Given the description of an element on the screen output the (x, y) to click on. 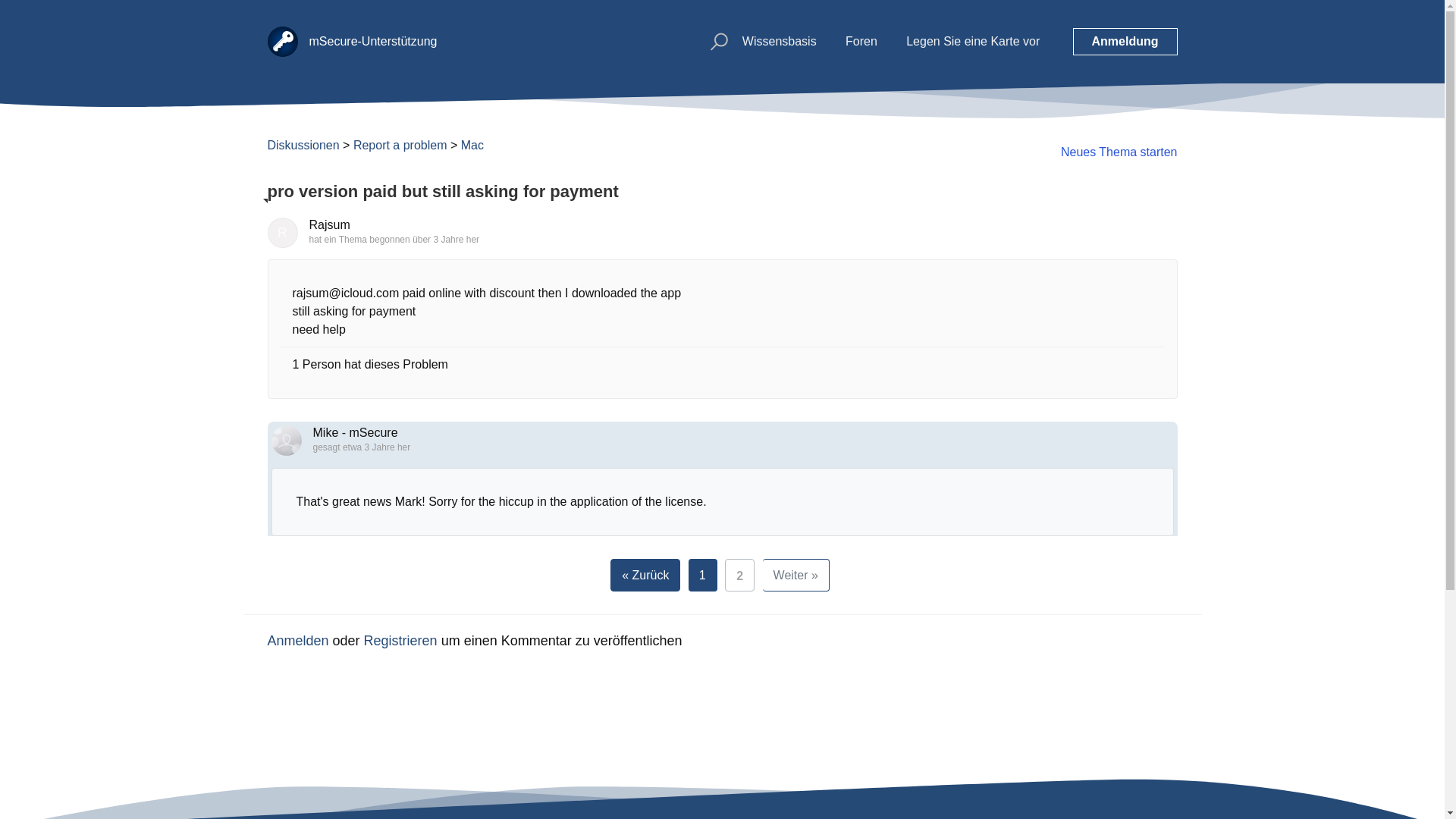
Anmelden (297, 640)
2 (739, 574)
Fr, Aug 20, 2021 um 11:29 VORMITTAGS (376, 447)
Wissensbasis (779, 41)
Registrieren (401, 640)
Diskussionen (302, 144)
Mi, Mai 5, 2021 um  2:26 NACHMITTAGS (445, 239)
Foren (861, 41)
Anmeldung (1123, 41)
Report a problem (399, 144)
